Given the description of an element on the screen output the (x, y) to click on. 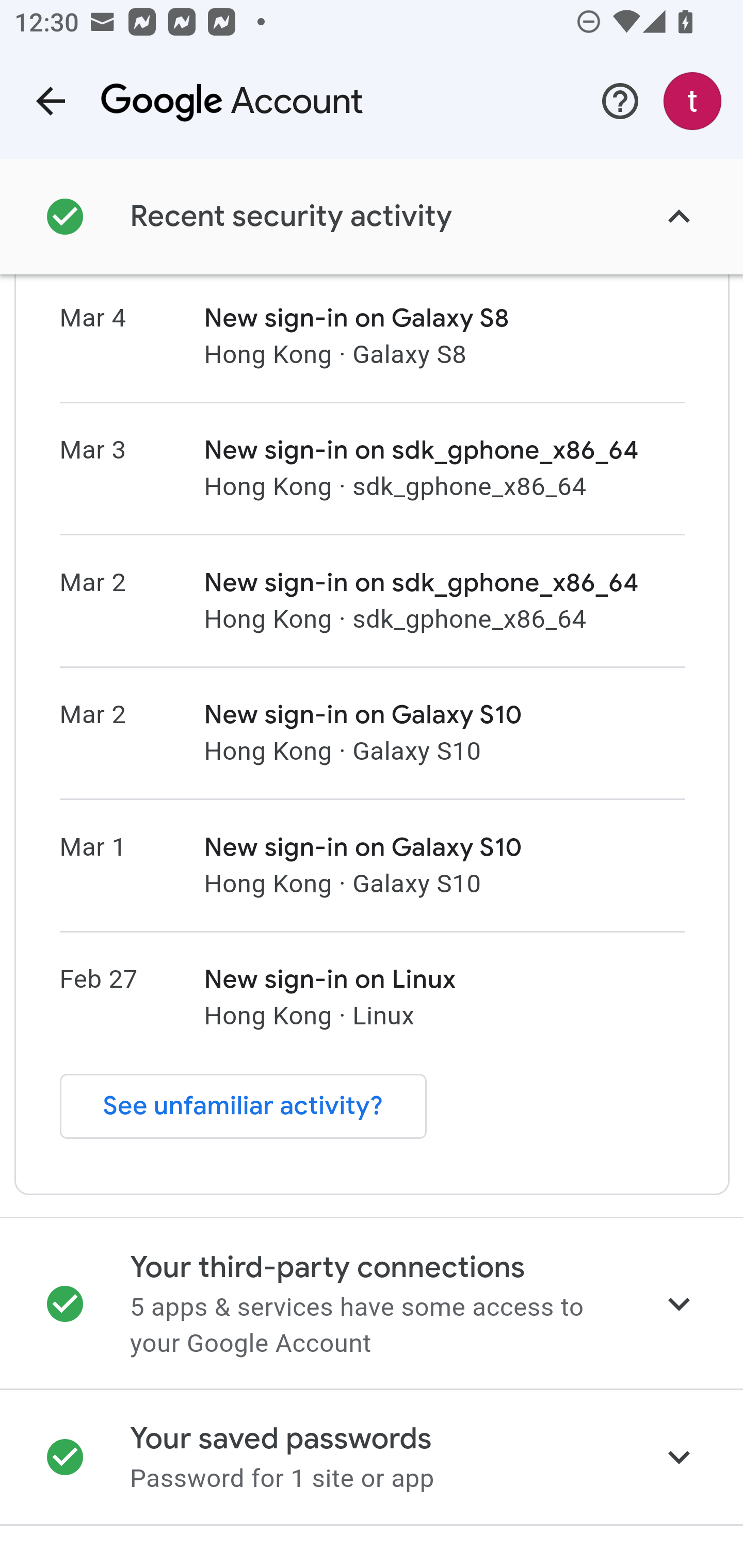
Navigate up (50, 101)
Help & feedback (619, 101)
No issues found in recent account activity (371, 216)
See unfamiliar activity? (242, 1107)
Your saved passwords Password for 1 site or app (371, 1457)
